Given the description of an element on the screen output the (x, y) to click on. 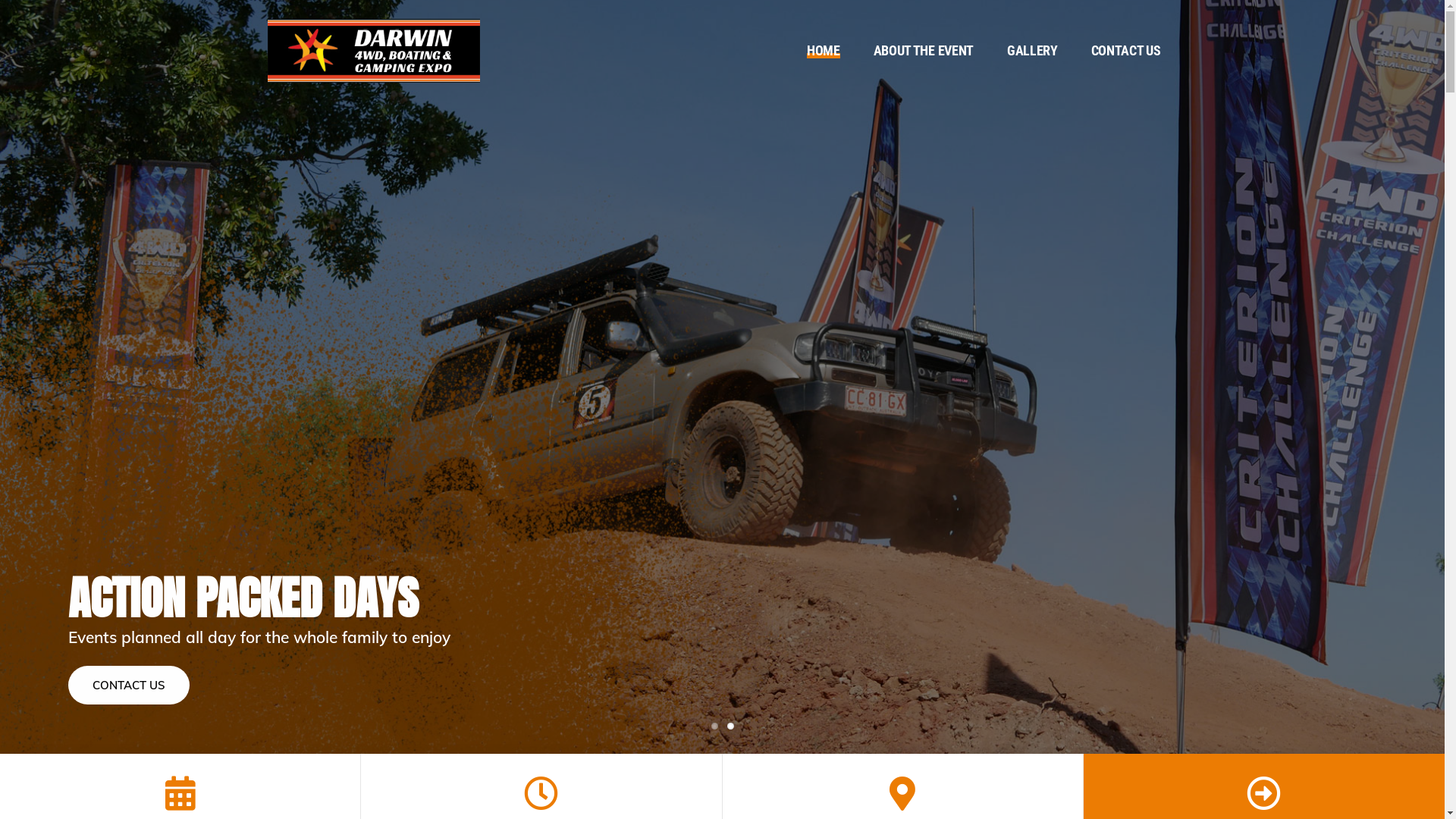
CONTACT US Element type: text (128, 684)
ABOUT THE EVENT Element type: text (923, 50)
CONTACT US Element type: text (1125, 50)
HOME Element type: text (823, 50)
GALLERY Element type: text (1032, 50)
2 Element type: text (729, 725)
Darwin 4WD, Boating & Camping Expo Element type: hover (372, 47)
1 Element type: text (714, 725)
